Given the description of an element on the screen output the (x, y) to click on. 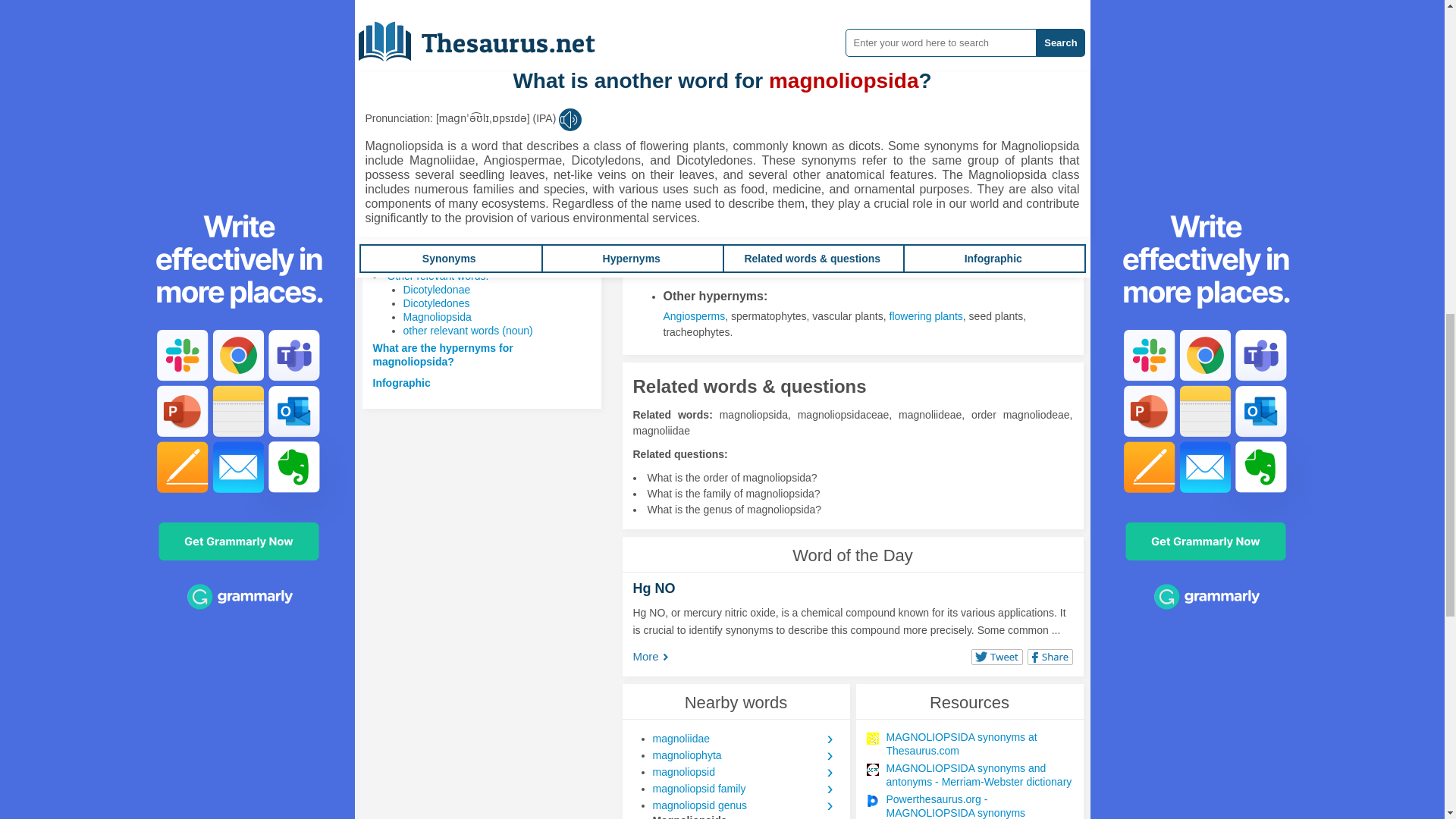
Class Dicotyledones (813, 119)
Magnoliopsida (437, 316)
Synonyms for Magnoliopsida (711, 119)
Synonyms for Magnoliopsida (916, 119)
Synonyms for Magnoliopsida (813, 119)
What is another word for magnoliopsida? (477, 233)
Other relevant words: (437, 275)
Synonyms for Magnoliopsida (695, 72)
flowering plants (925, 316)
Class Dicotyledonae (711, 119)
Angiosperms (693, 316)
dicotyledonae (695, 25)
Dicotyledonae (436, 289)
Dicotyledones (436, 303)
Synonyms for Magnoliopsida (695, 25)
